Given the description of an element on the screen output the (x, y) to click on. 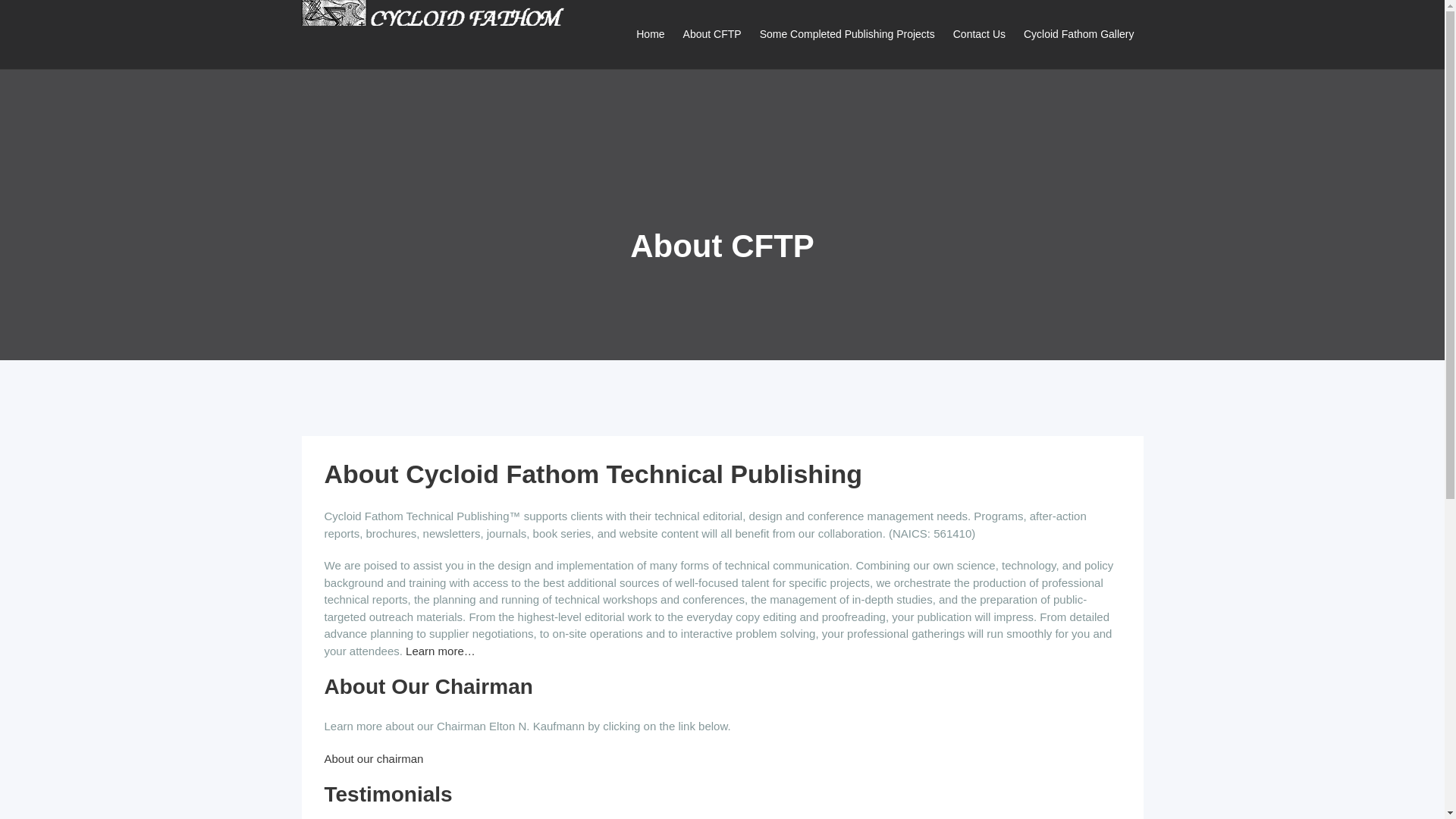
About CFTP (712, 34)
Some Completed Publishing Projects (847, 34)
Some Completed Publishing Projects (847, 34)
About CFTP (712, 34)
Cycloid Fathom Gallery (1078, 34)
Cycloid Fathom Gallery (1078, 34)
Contact Us (978, 34)
Contact Us (978, 34)
About our chairman (373, 758)
